Given the description of an element on the screen output the (x, y) to click on. 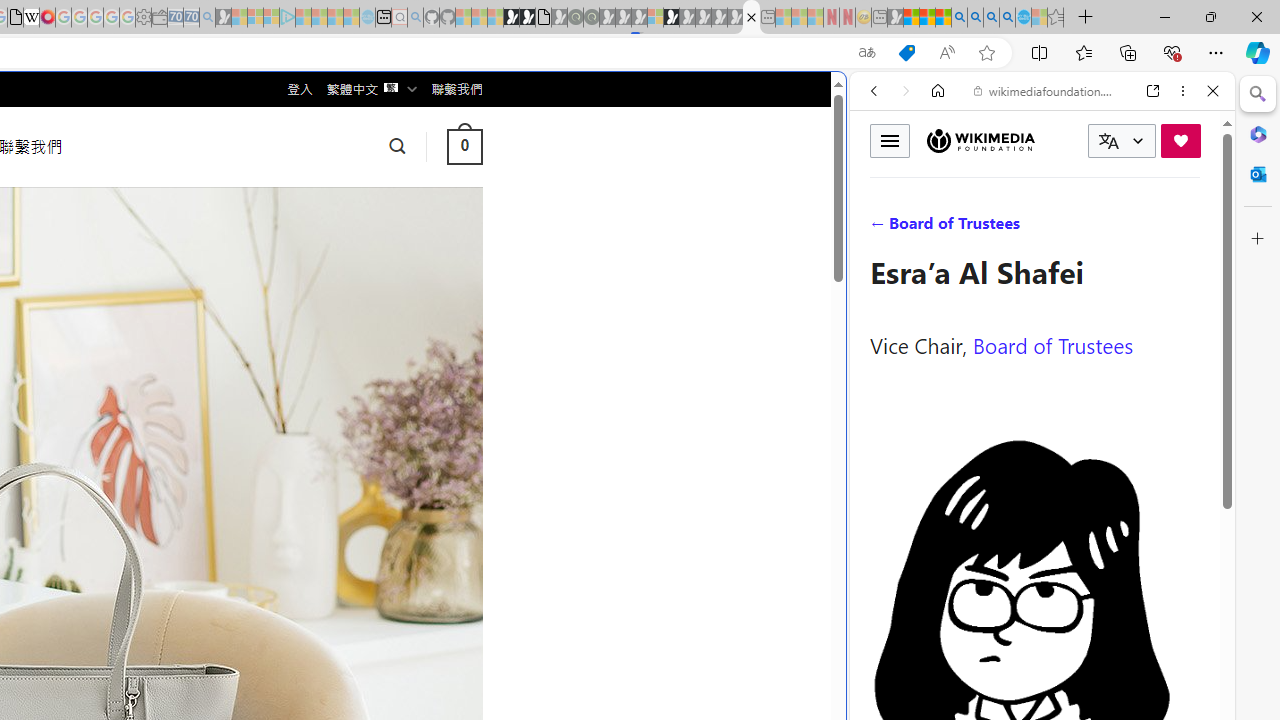
This site has coupons! Shopping in Microsoft Edge, 4 (906, 53)
